Given the description of an element on the screen output the (x, y) to click on. 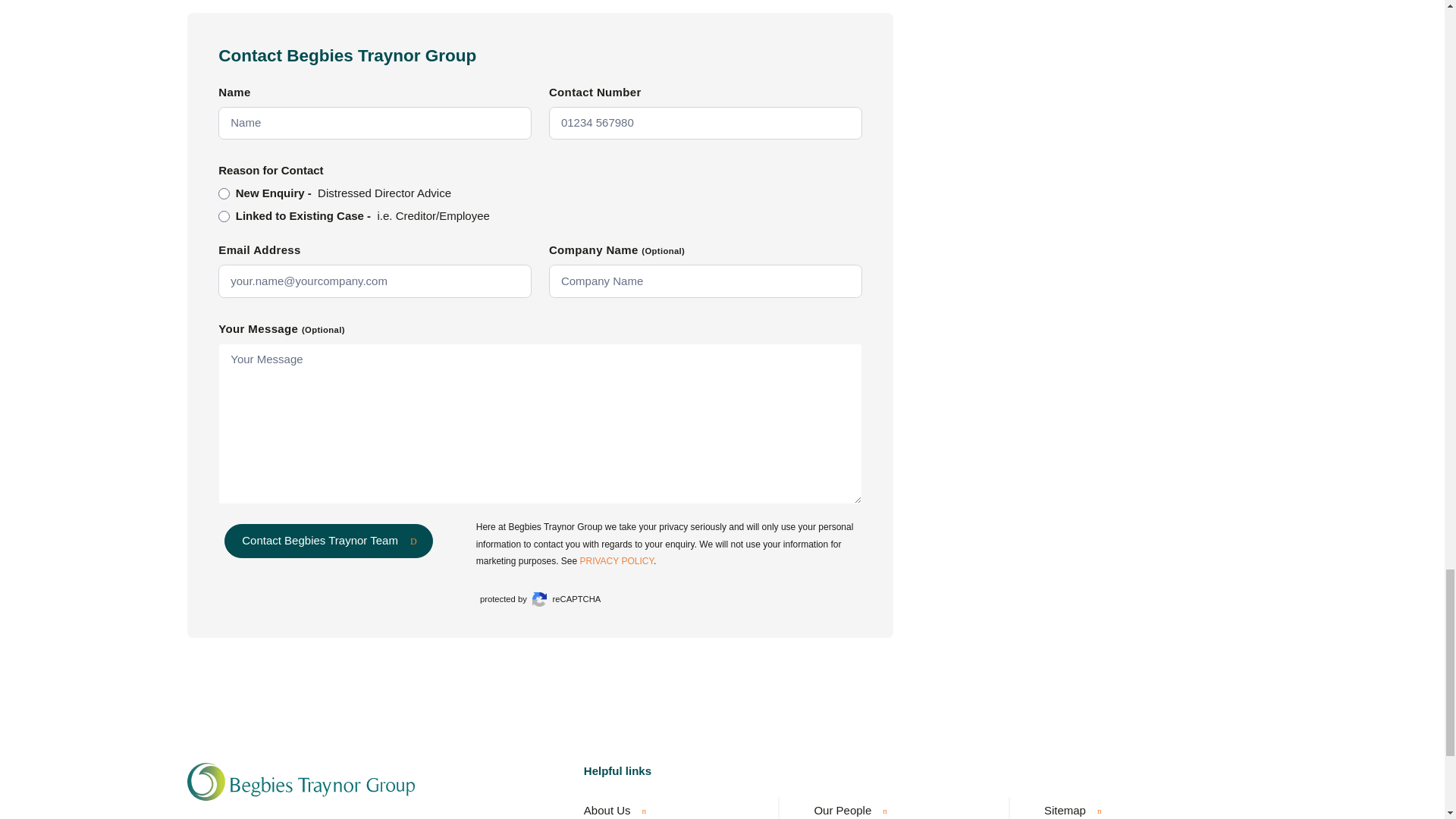
New Enquiry - Distressed Director Advice (224, 193)
